Given the description of an element on the screen output the (x, y) to click on. 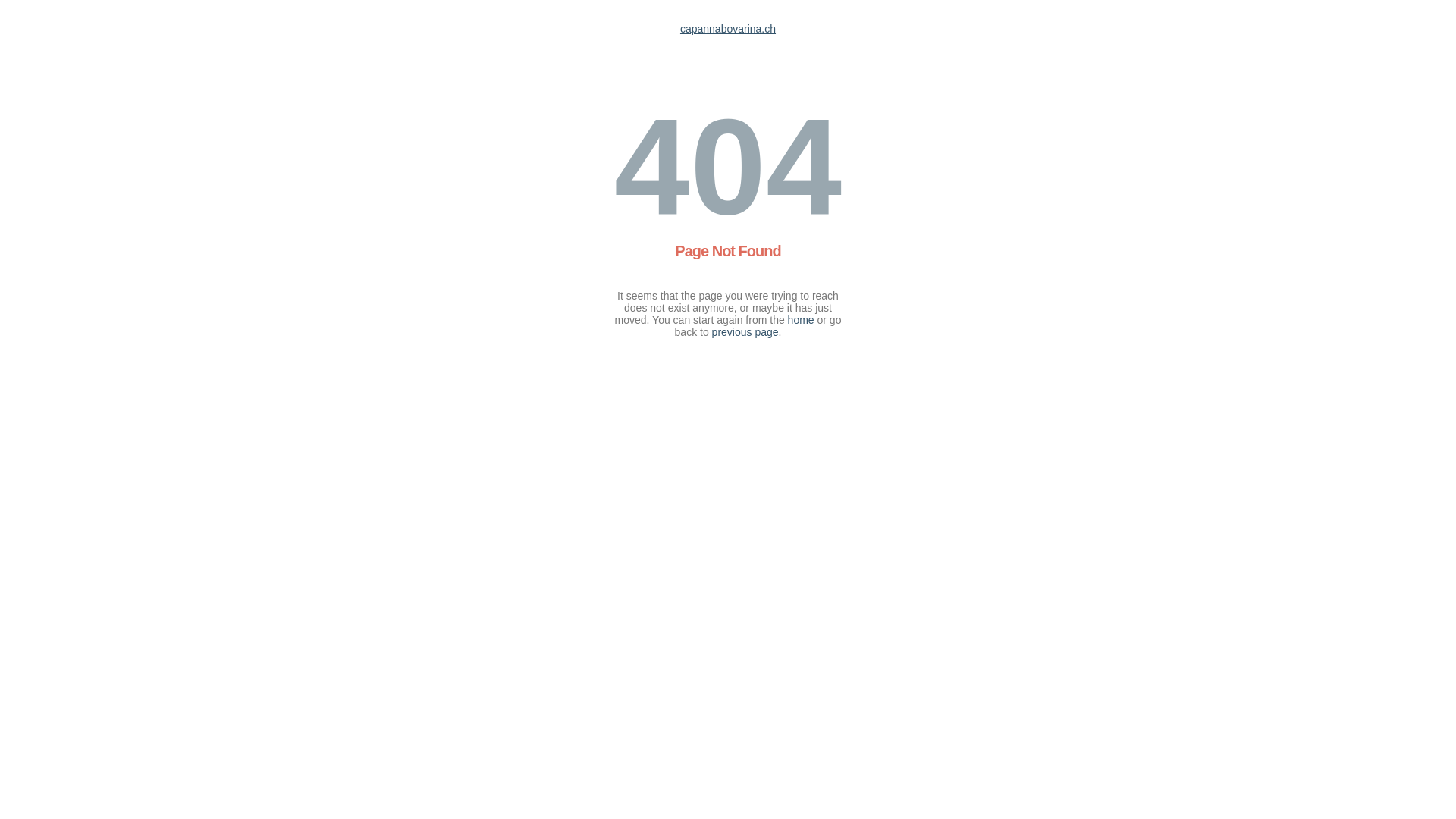
capannabovarina.ch Element type: text (727, 28)
home Element type: text (800, 319)
previous page Element type: text (745, 332)
